Given the description of an element on the screen output the (x, y) to click on. 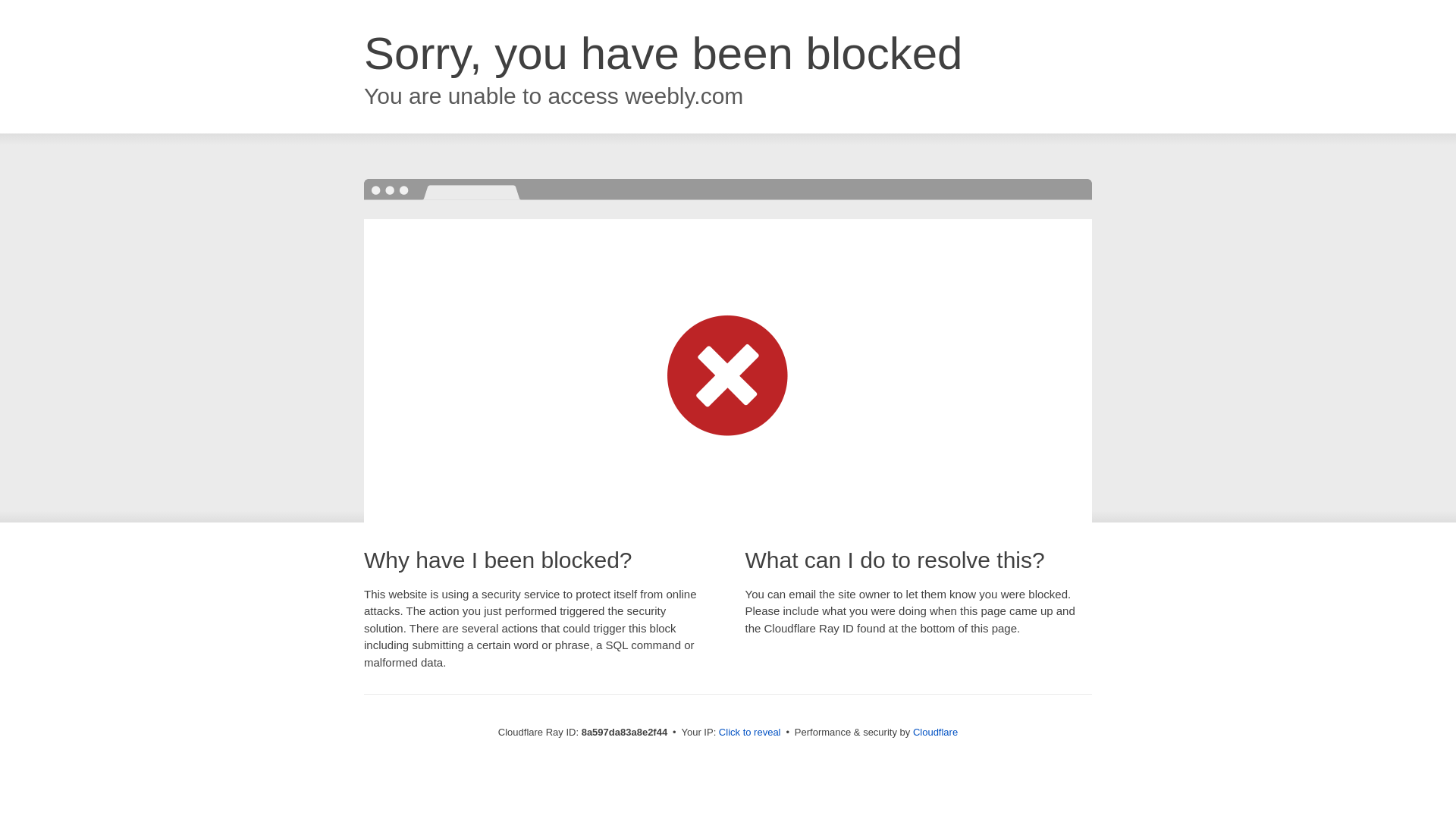
Click to reveal (749, 732)
Cloudflare (935, 731)
